Given the description of an element on the screen output the (x, y) to click on. 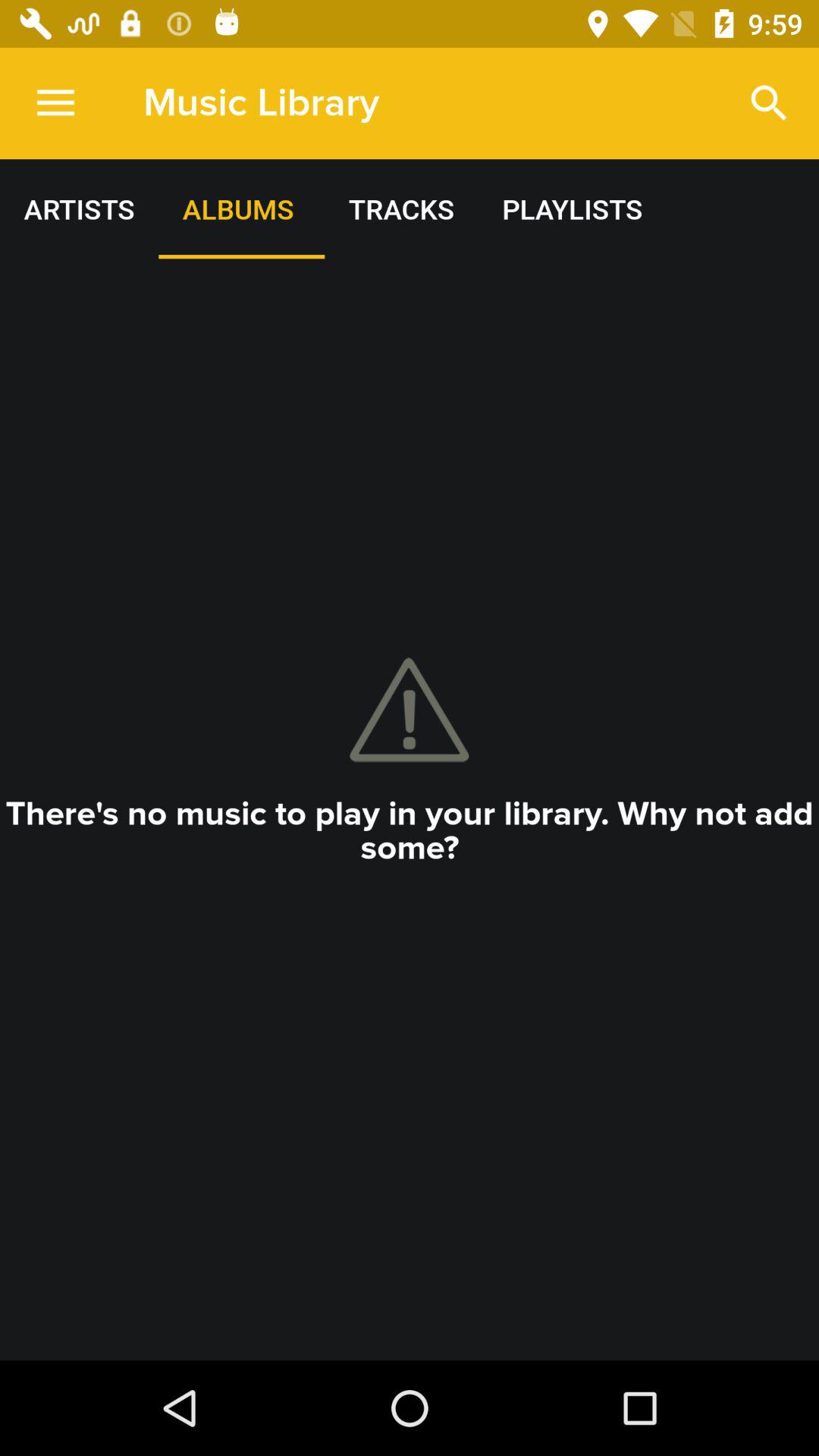
launch the icon to the left of music library (55, 103)
